Given the description of an element on the screen output the (x, y) to click on. 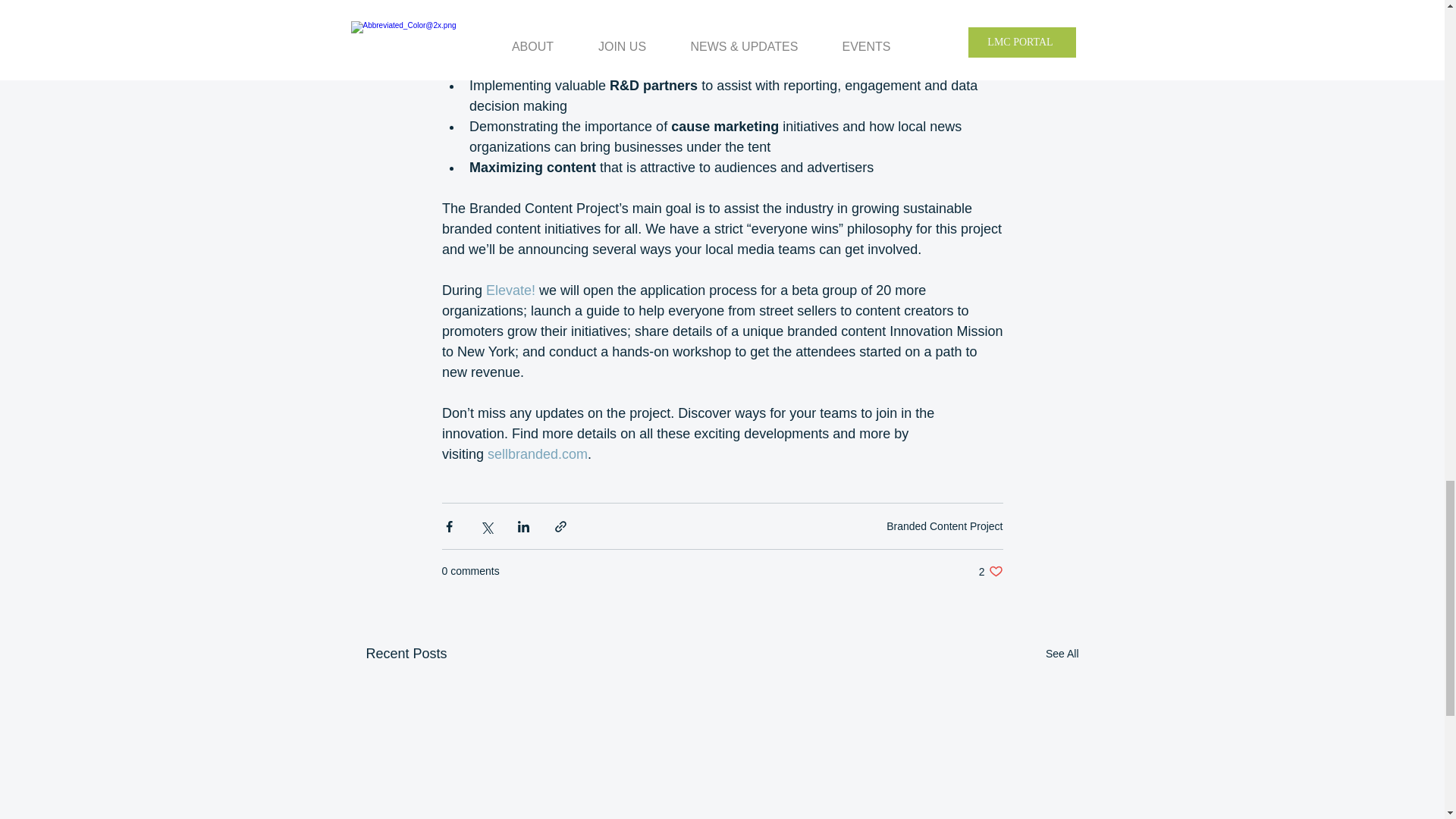
Elevate! (510, 290)
sellbranded.com (537, 453)
Branded Content Project (990, 571)
See All (944, 526)
